Given the description of an element on the screen output the (x, y) to click on. 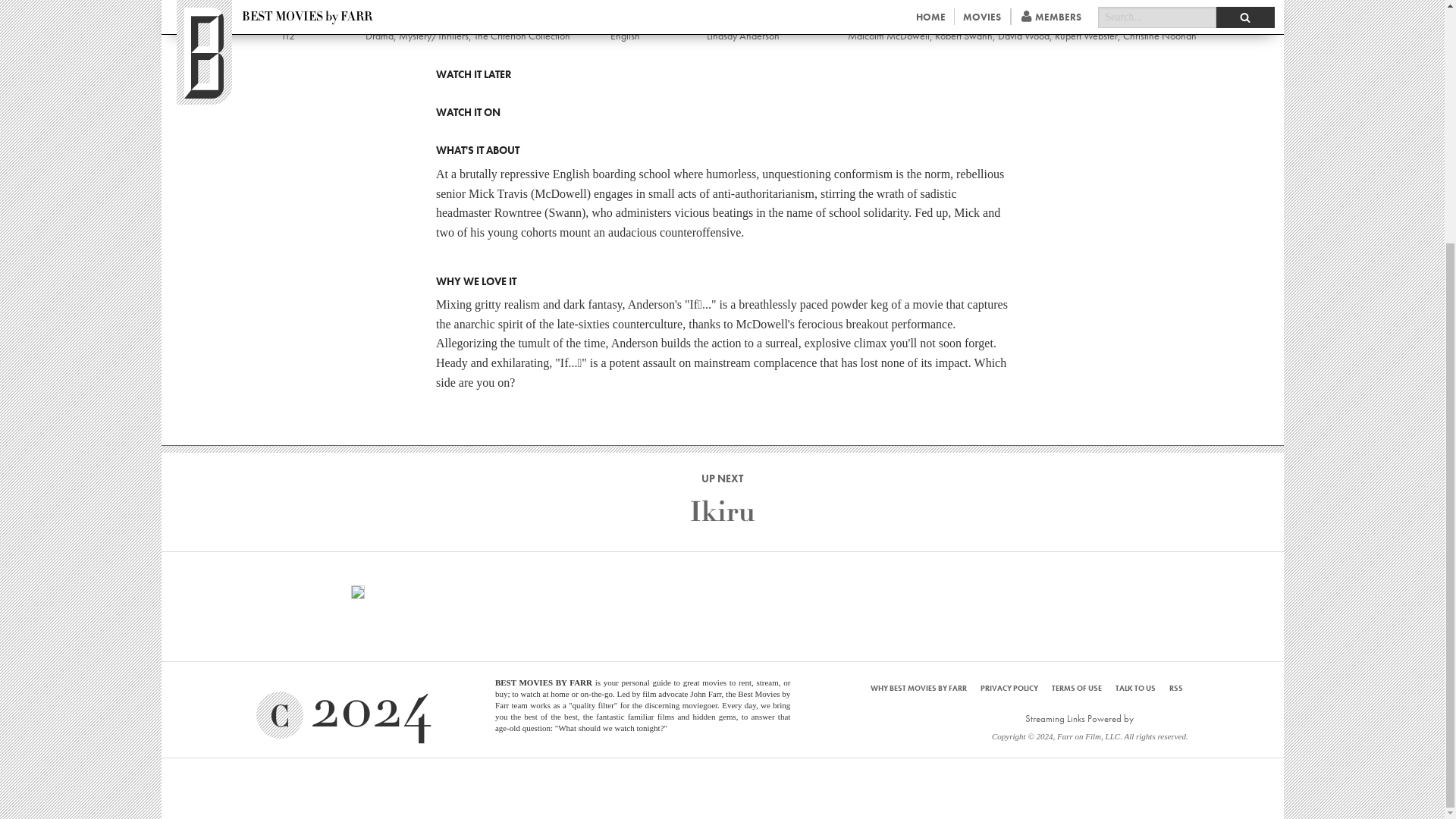
Malcolm McDowell (888, 35)
Drama (379, 35)
The Criterion Collection (521, 35)
Lindsay Anderson (742, 35)
WHY BEST MOVIES BY FARR (918, 687)
Ikiru (722, 511)
PRIVACY POLICY (1008, 687)
TALK TO US (1135, 687)
RSS (1175, 687)
Rupert Webster (1085, 35)
